Given the description of an element on the screen output the (x, y) to click on. 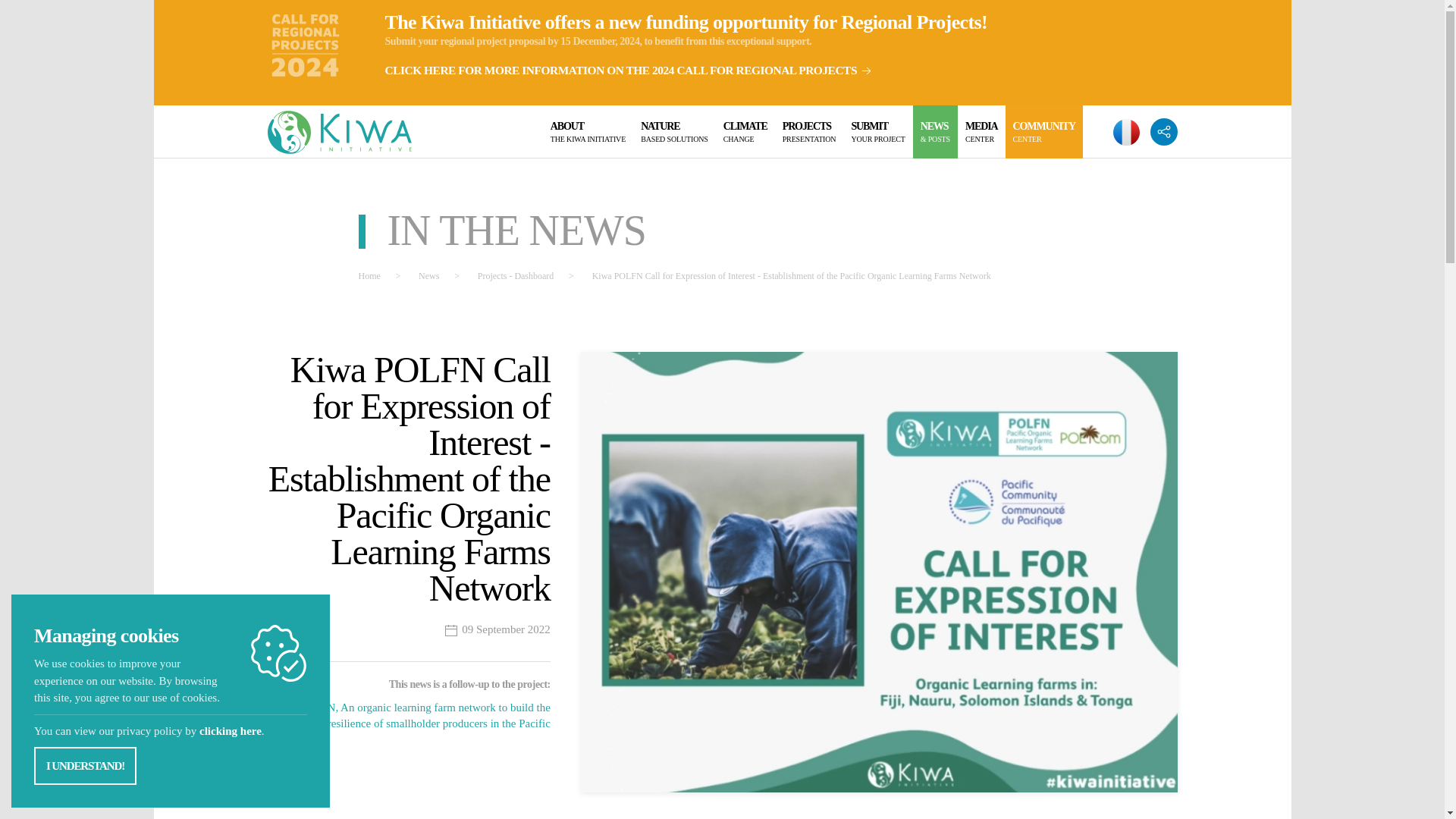
Processing of personal data (674, 131)
